Given the description of an element on the screen output the (x, y) to click on. 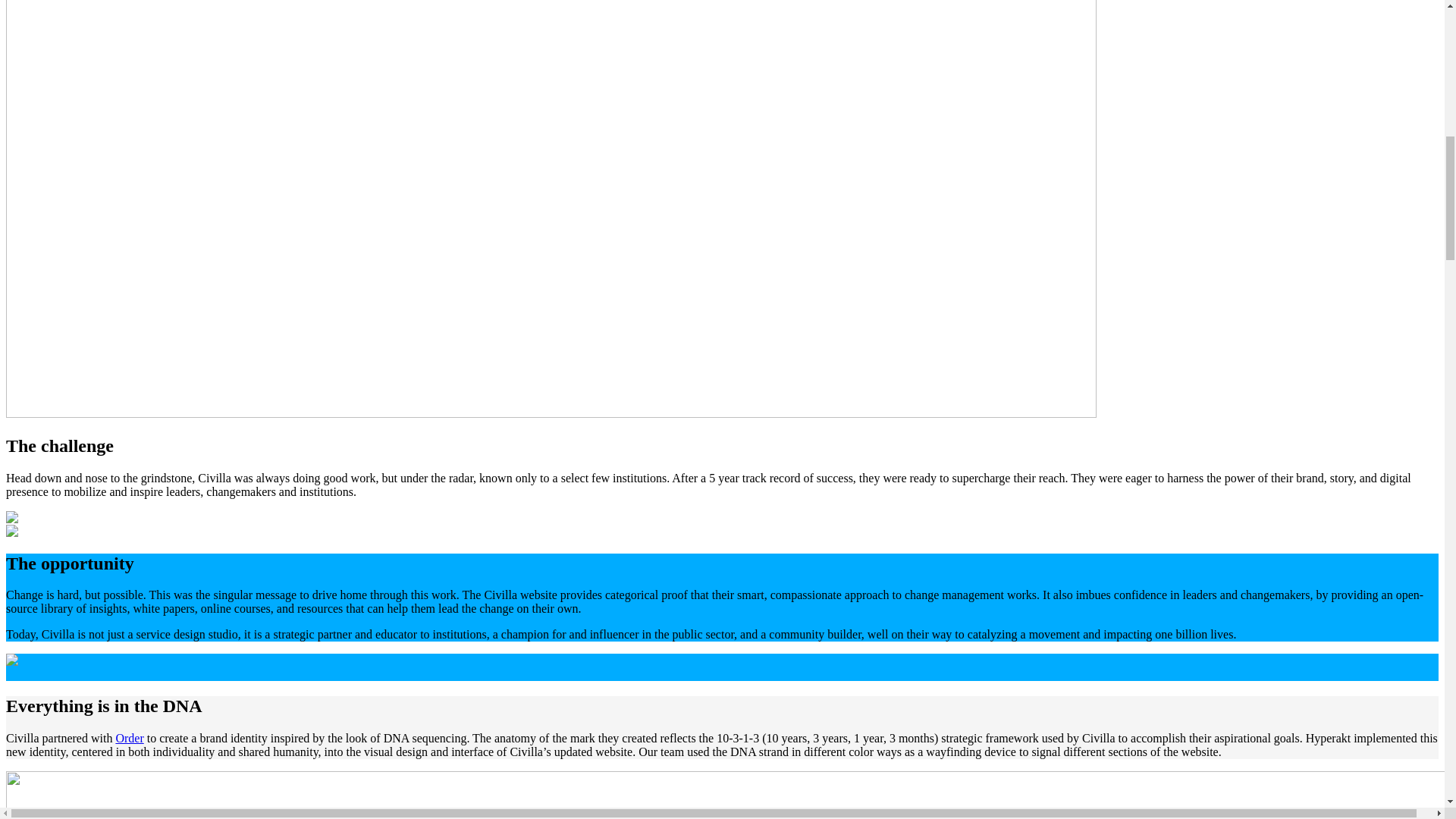
Order (128, 738)
